Given the description of an element on the screen output the (x, y) to click on. 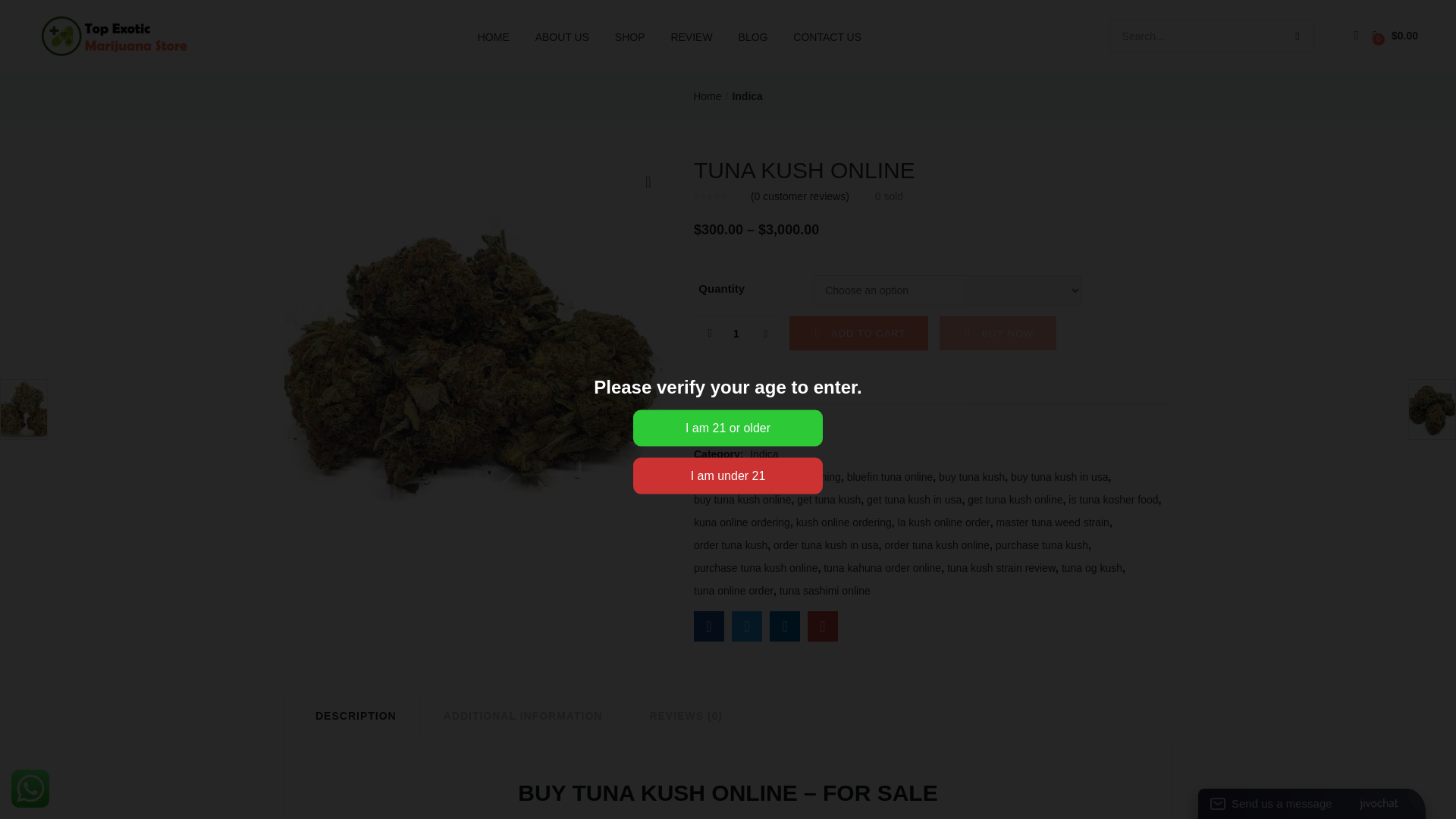
TUNA KUSH ONLINE (708, 625)
CONTACT US (826, 36)
I am 21 or older (727, 427)
ABOUT US (561, 36)
I am under 21 (727, 475)
View your shopping cart (1395, 36)
TUNA KUSH ONLINE (823, 625)
